Given the description of an element on the screen output the (x, y) to click on. 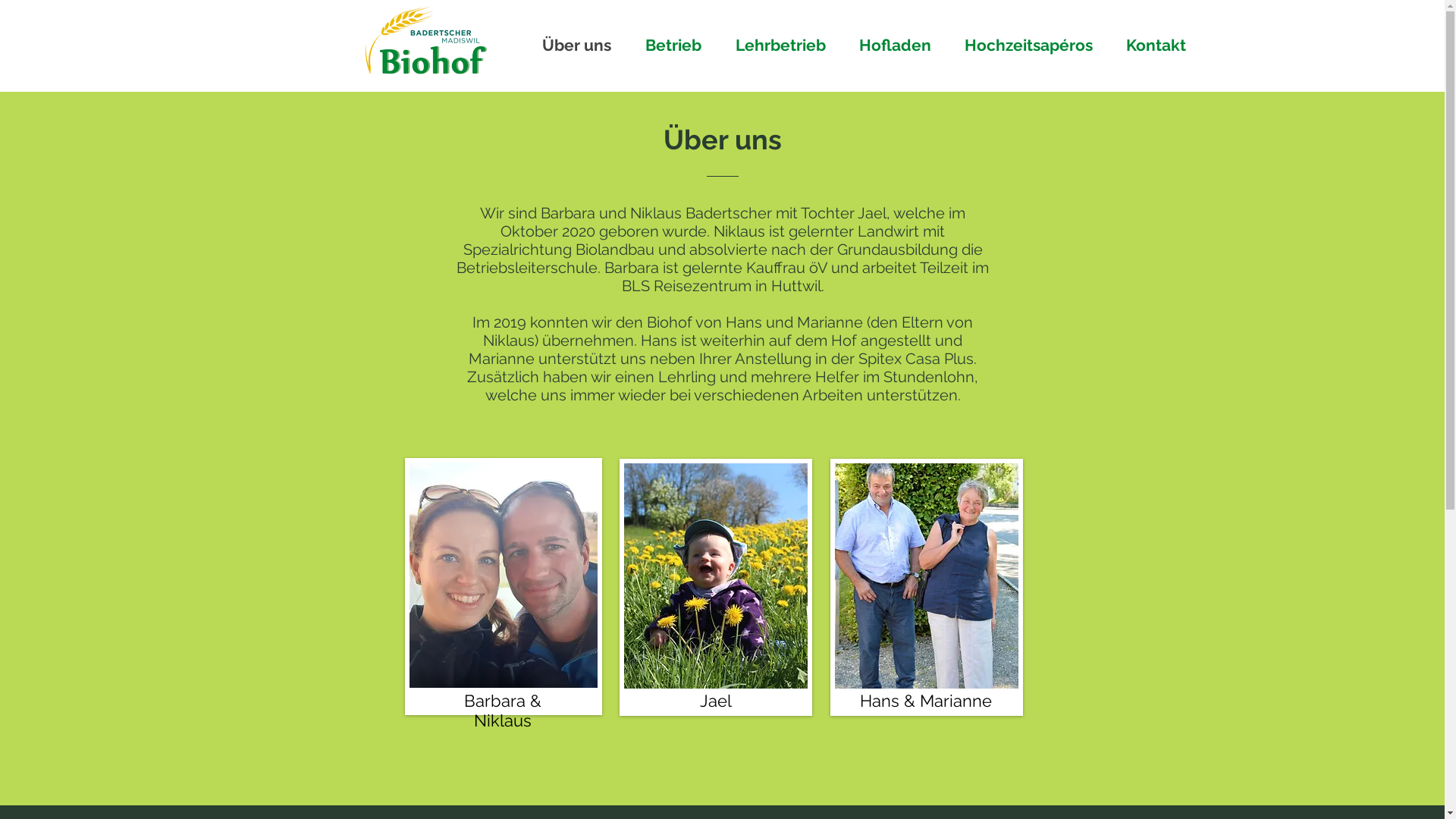
Betrieb Element type: text (678, 45)
Hofladen Element type: text (900, 45)
Lehrbetrieb Element type: text (785, 45)
Kontakt Element type: text (1161, 45)
